Given the description of an element on the screen output the (x, y) to click on. 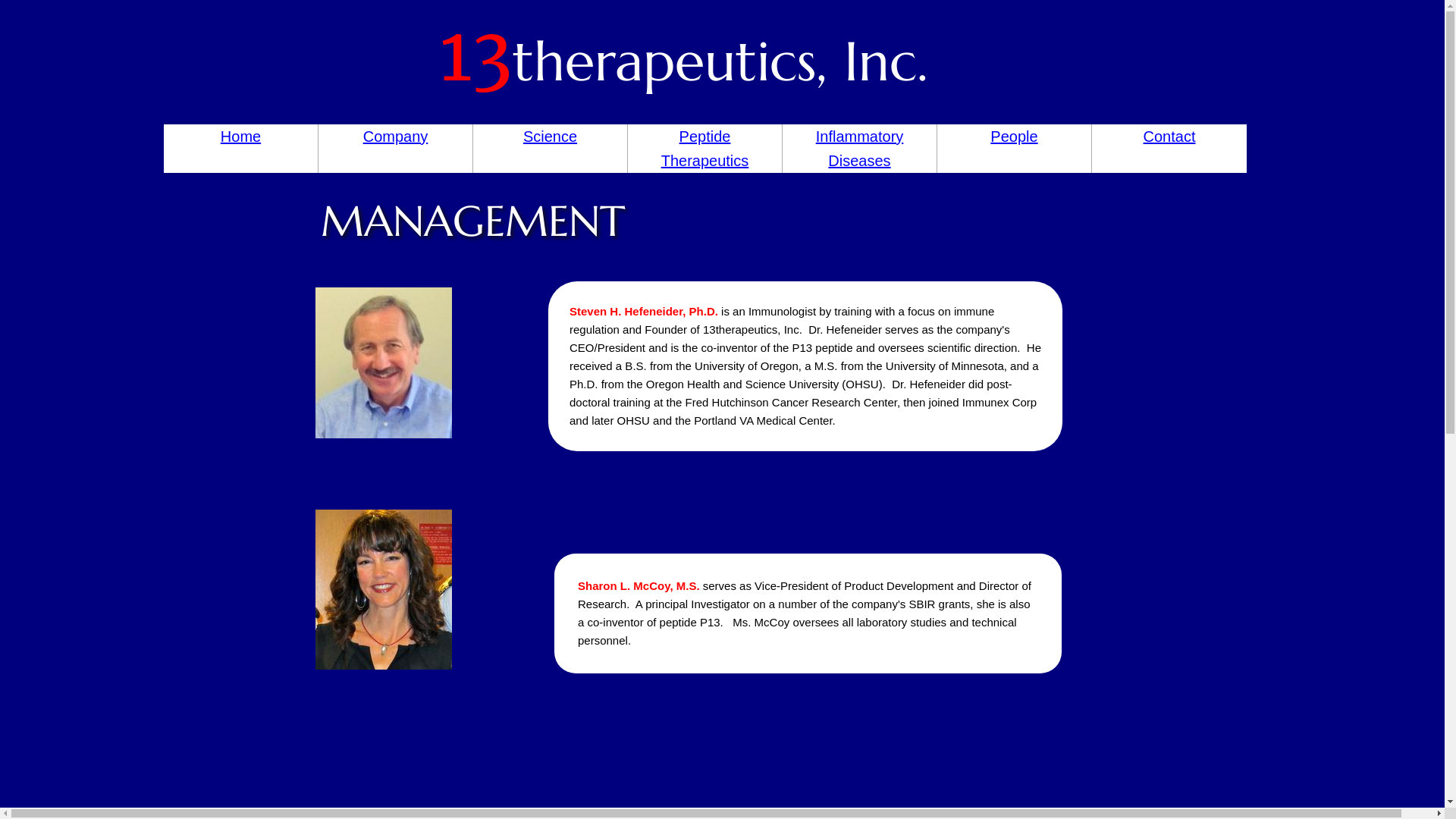
Peptide Therapeutics Element type: text (705, 148)
Science Element type: text (550, 136)
Contact Element type: text (1169, 136)
People Element type: text (1013, 136)
Inflammatory Diseases Element type: text (859, 148)
Home Element type: text (240, 136)
Company Element type: text (395, 136)
